Given the description of an element on the screen output the (x, y) to click on. 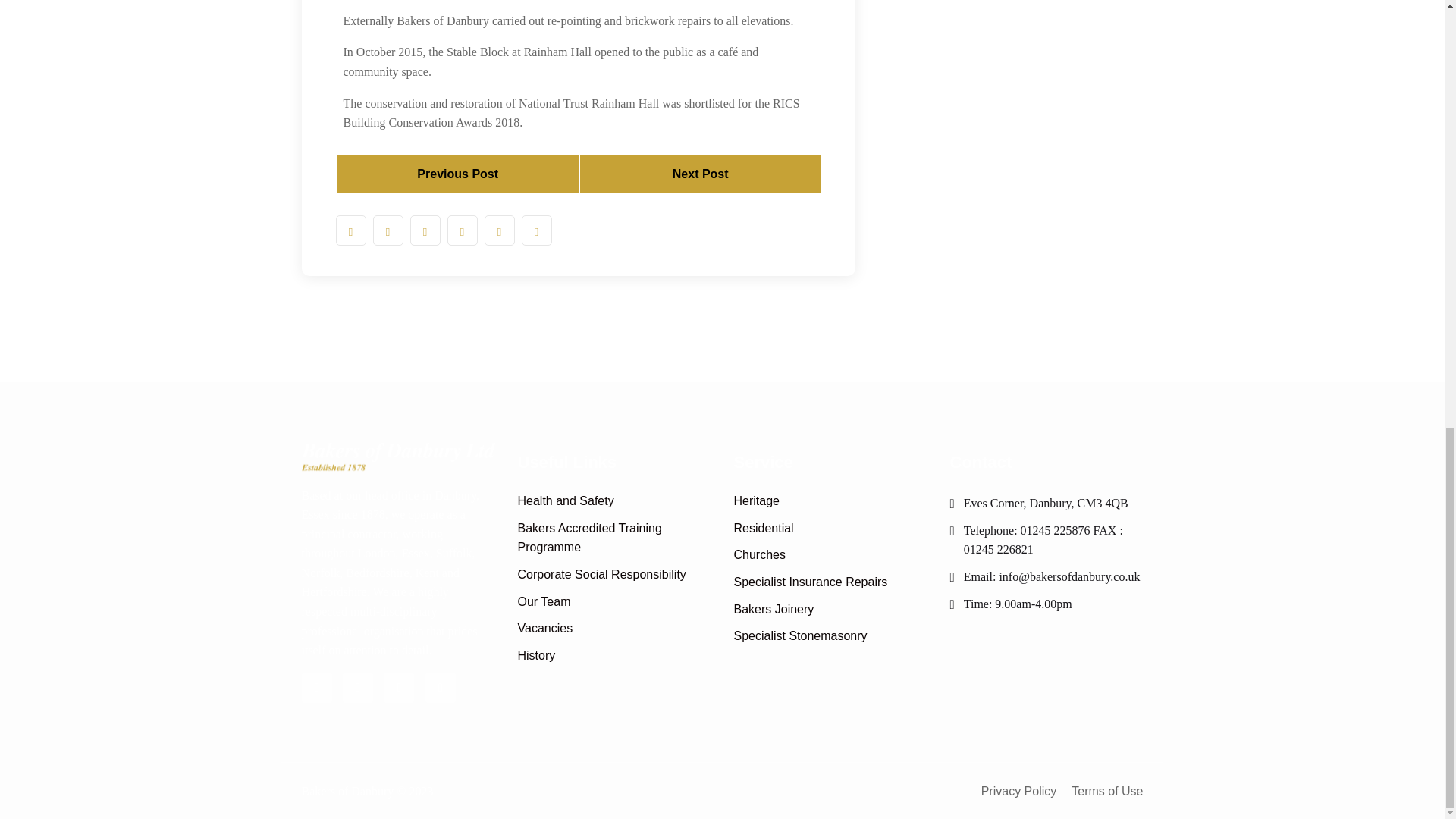
Twitter (357, 687)
American Oak Panelling (700, 173)
Instagram (440, 687)
Westminster Abbey (456, 173)
Facebook (316, 687)
Linkedin (398, 687)
